Given the description of an element on the screen output the (x, y) to click on. 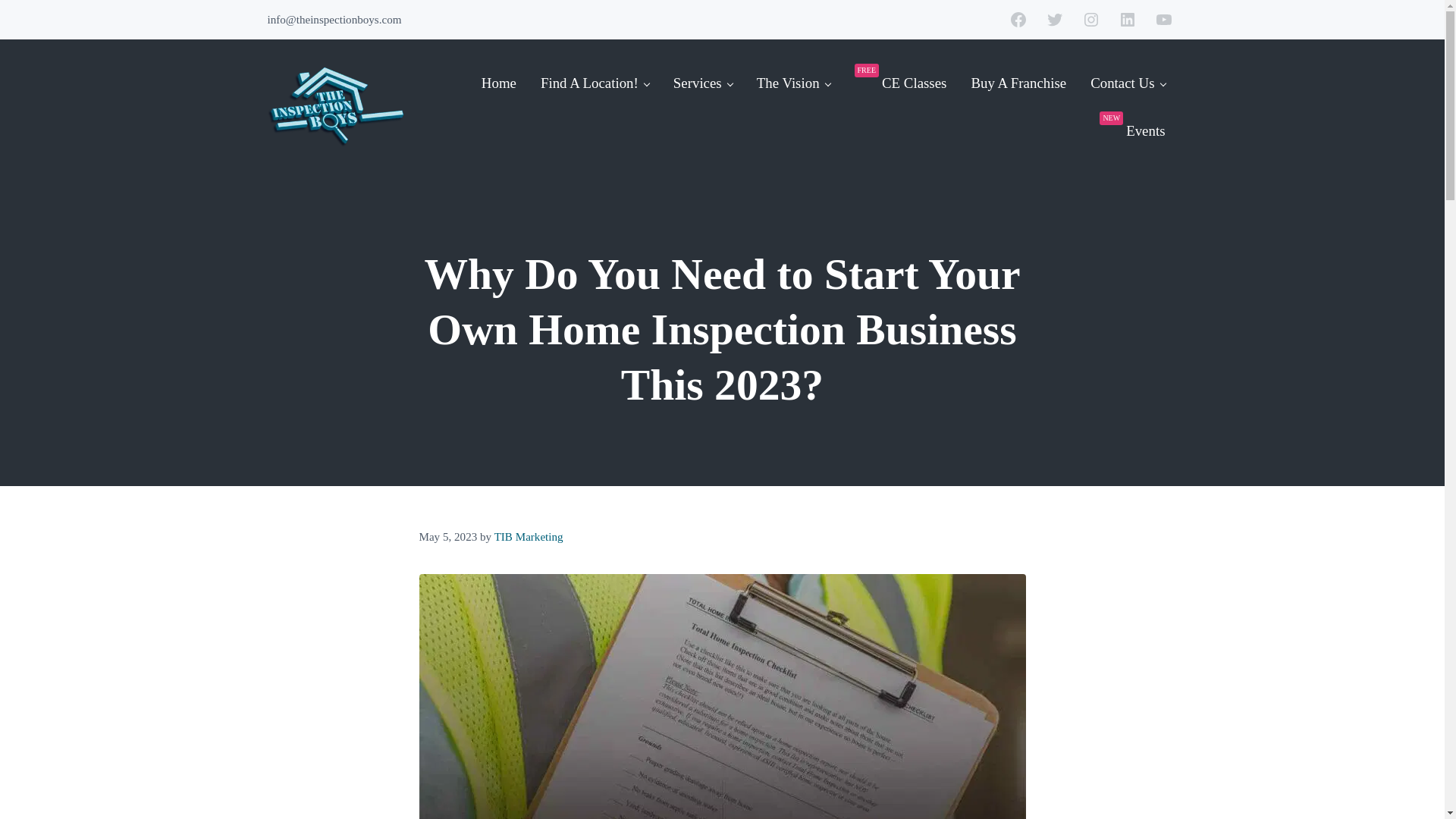
Instagram (1090, 19)
YouTube (1163, 19)
Twitter (1054, 19)
Home (498, 83)
Find A Location! (594, 83)
LinkedIn (1126, 19)
Facebook (1017, 19)
